Given the description of an element on the screen output the (x, y) to click on. 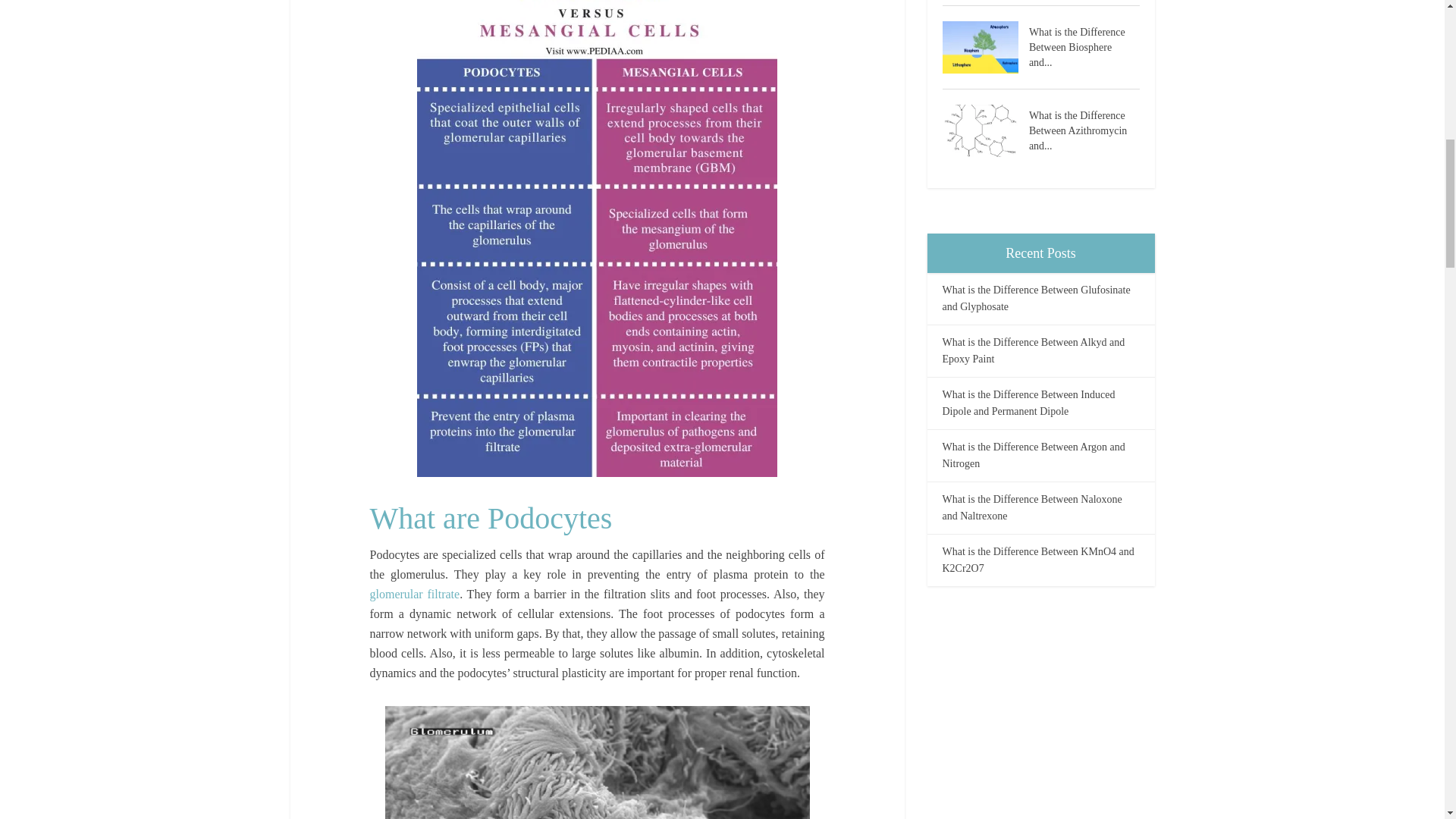
glomerular filtrate (414, 594)
What is the Difference Between Azithromycin and Amoxicillin (984, 130)
What is the Difference Between Azithromycin and Amoxicillin (1084, 128)
